Given the description of an element on the screen output the (x, y) to click on. 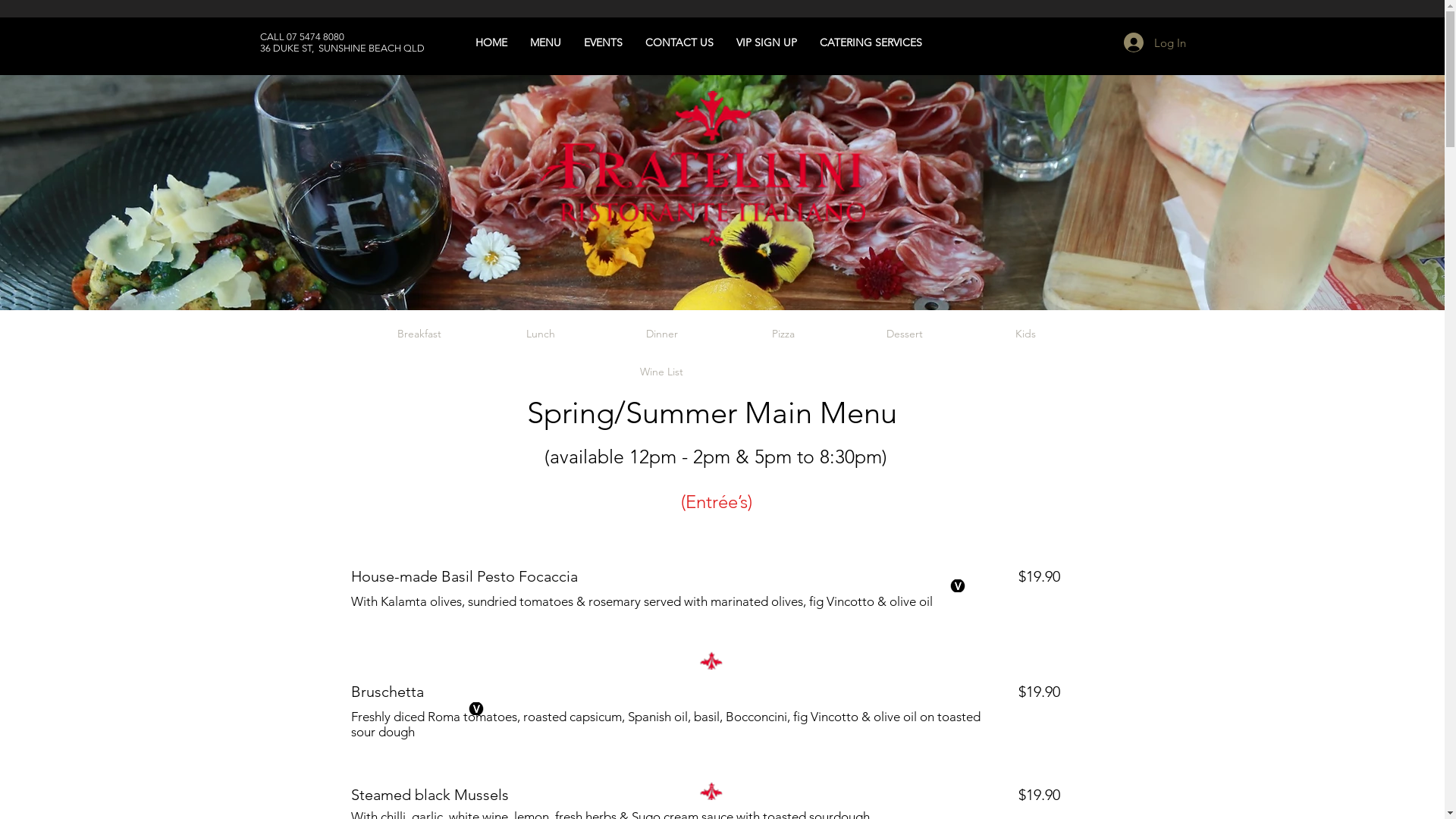
Log In Element type: text (1154, 42)
Wine List Element type: text (660, 371)
VIP SIGN UP Element type: text (766, 42)
CONTACT US Element type: text (678, 42)
CATERING SERVICES Element type: text (844, 34)
EVENTS Element type: text (602, 42)
VIP SIGN UP Element type: text (740, 34)
Breakfast Element type: text (418, 333)
Lunch Element type: text (539, 333)
CATERING SERVICES Element type: text (870, 42)
Restaurant Social Bar Element type: hover (1249, 41)
Dessert Element type: text (903, 333)
CONTACT US Element type: text (653, 34)
Kids Element type: text (1024, 333)
HOME Element type: text (465, 34)
Pizza Element type: text (782, 333)
EVENTS Element type: text (577, 34)
Dinner Element type: text (660, 333)
HOME Element type: text (491, 42)
